Given the description of an element on the screen output the (x, y) to click on. 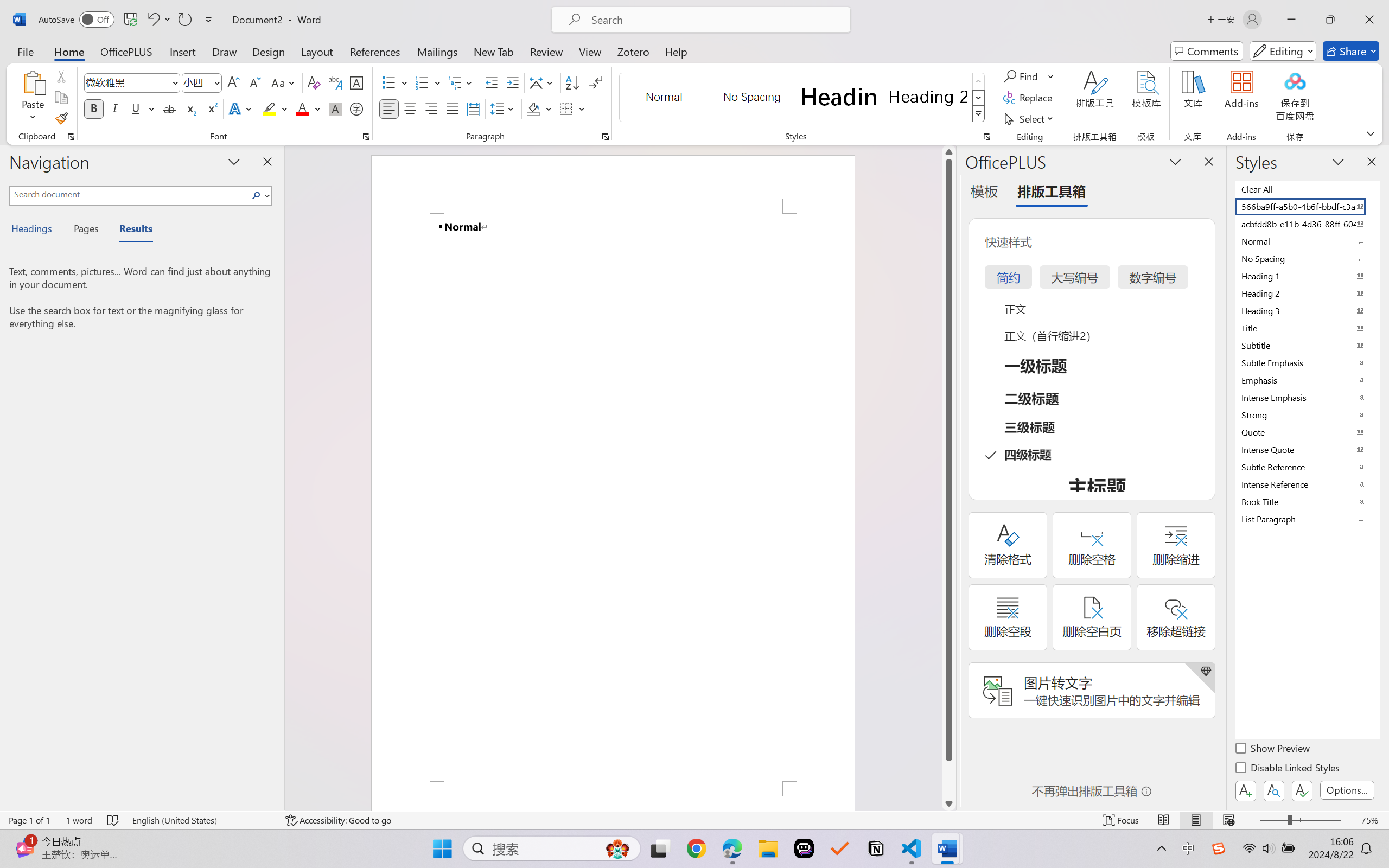
Character Shading (334, 108)
Align Left (388, 108)
Superscript (210, 108)
Ribbon Display Options (1370, 132)
Numbering (428, 82)
Zoom In (1348, 819)
Find (1022, 75)
Intense Reference (1306, 484)
Normal (1306, 240)
Strikethrough (169, 108)
Word Count 1 word (78, 819)
Increase Indent (512, 82)
